Given the description of an element on the screen output the (x, y) to click on. 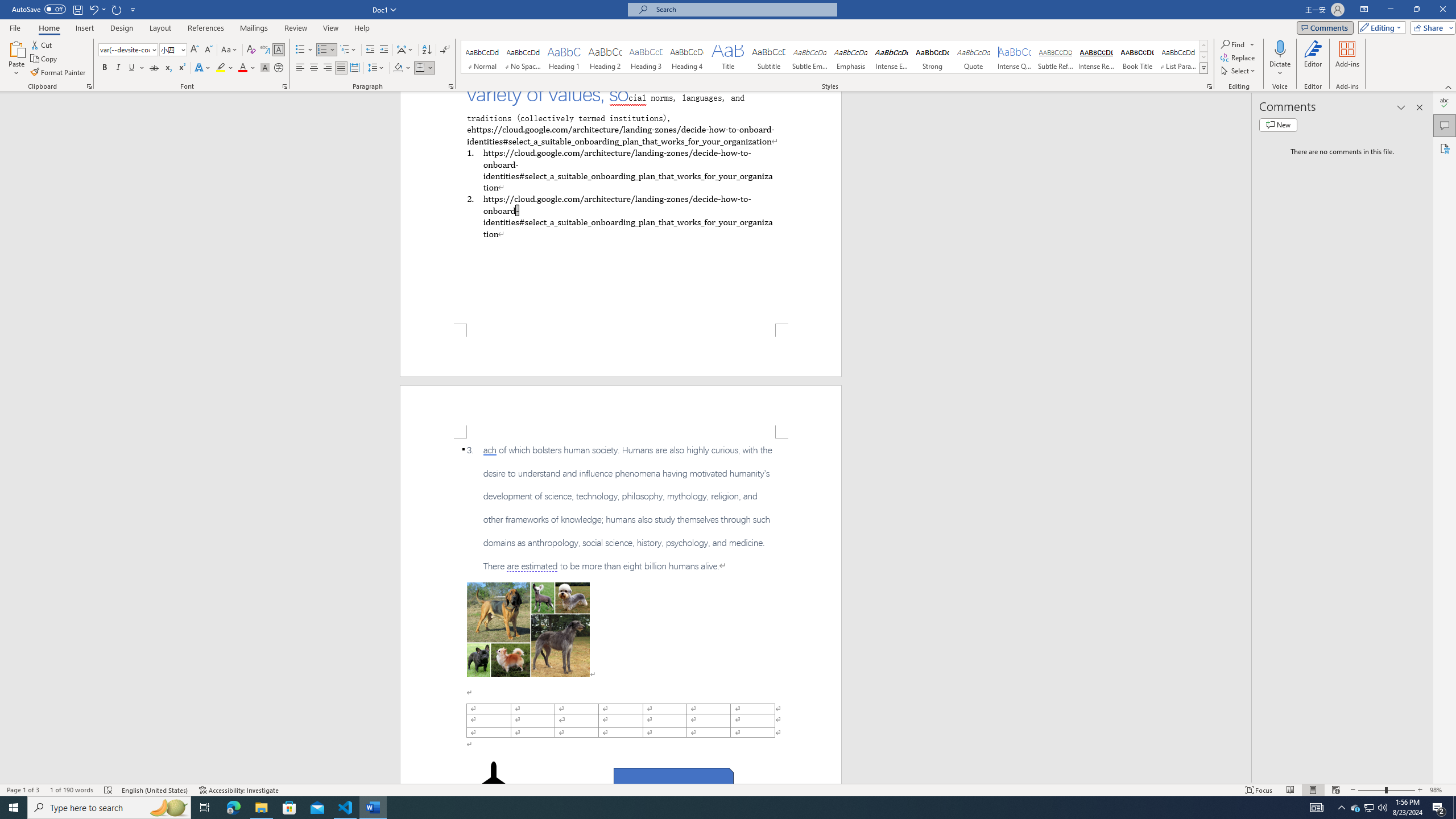
Heading 3 (646, 56)
Save (77, 9)
Heading 4 (686, 56)
Decrease Indent (370, 49)
2. (620, 216)
Editing (1379, 27)
Font Color (246, 67)
Center (313, 67)
Subtitle (768, 56)
Strong (932, 56)
Morphological variation in six dogs (528, 629)
Bold (104, 67)
Character Shading (264, 67)
